Given the description of an element on the screen output the (x, y) to click on. 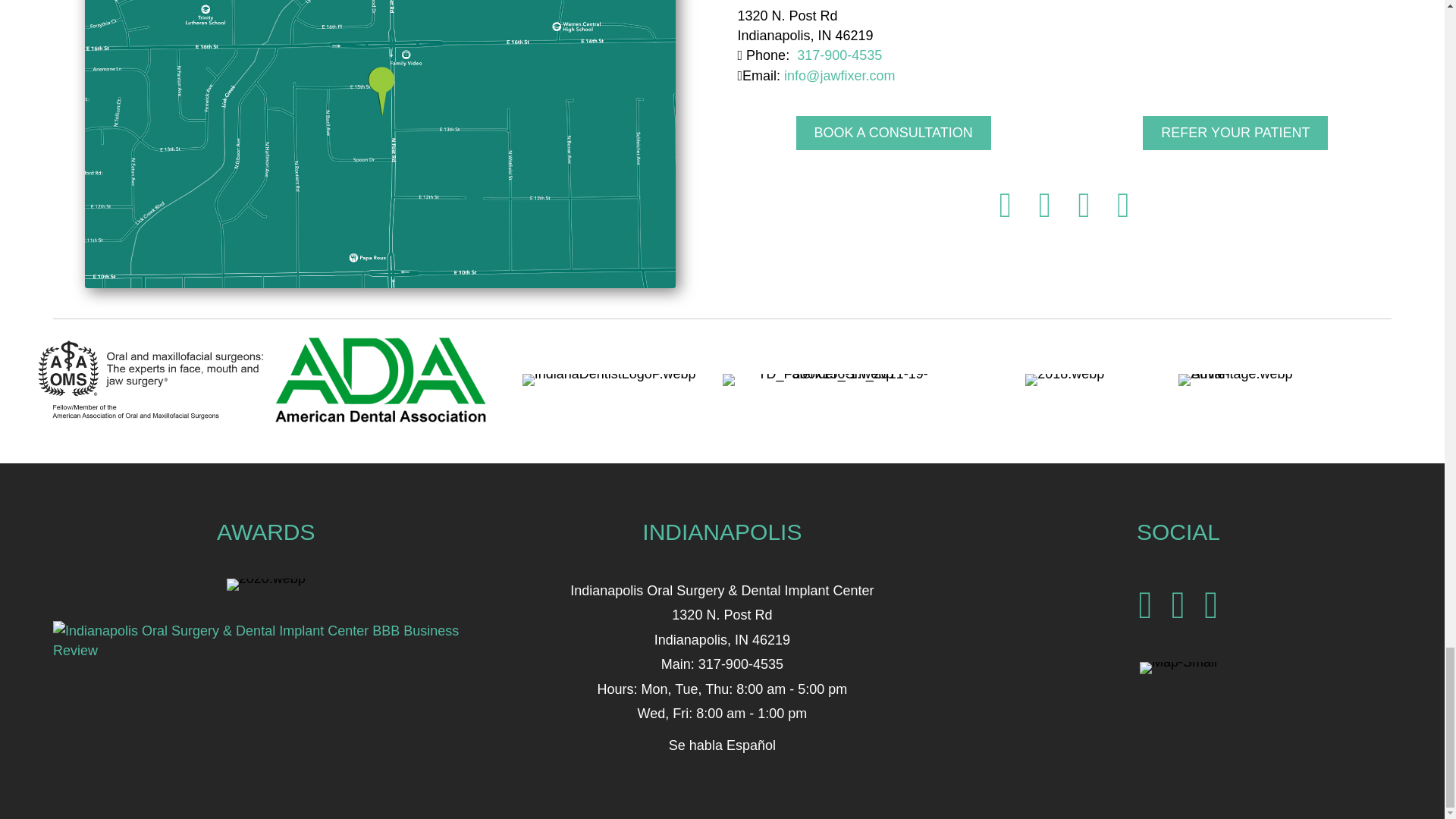
AAOMS.webp (151, 379)
2020.webp (266, 584)
2018.webp (1064, 379)
ADA-logo.webp (380, 379)
Smile-Advantage.webp (1249, 379)
IndianaDentistLogoP.webp (608, 379)
Map-Small (1178, 667)
